Given the description of an element on the screen output the (x, y) to click on. 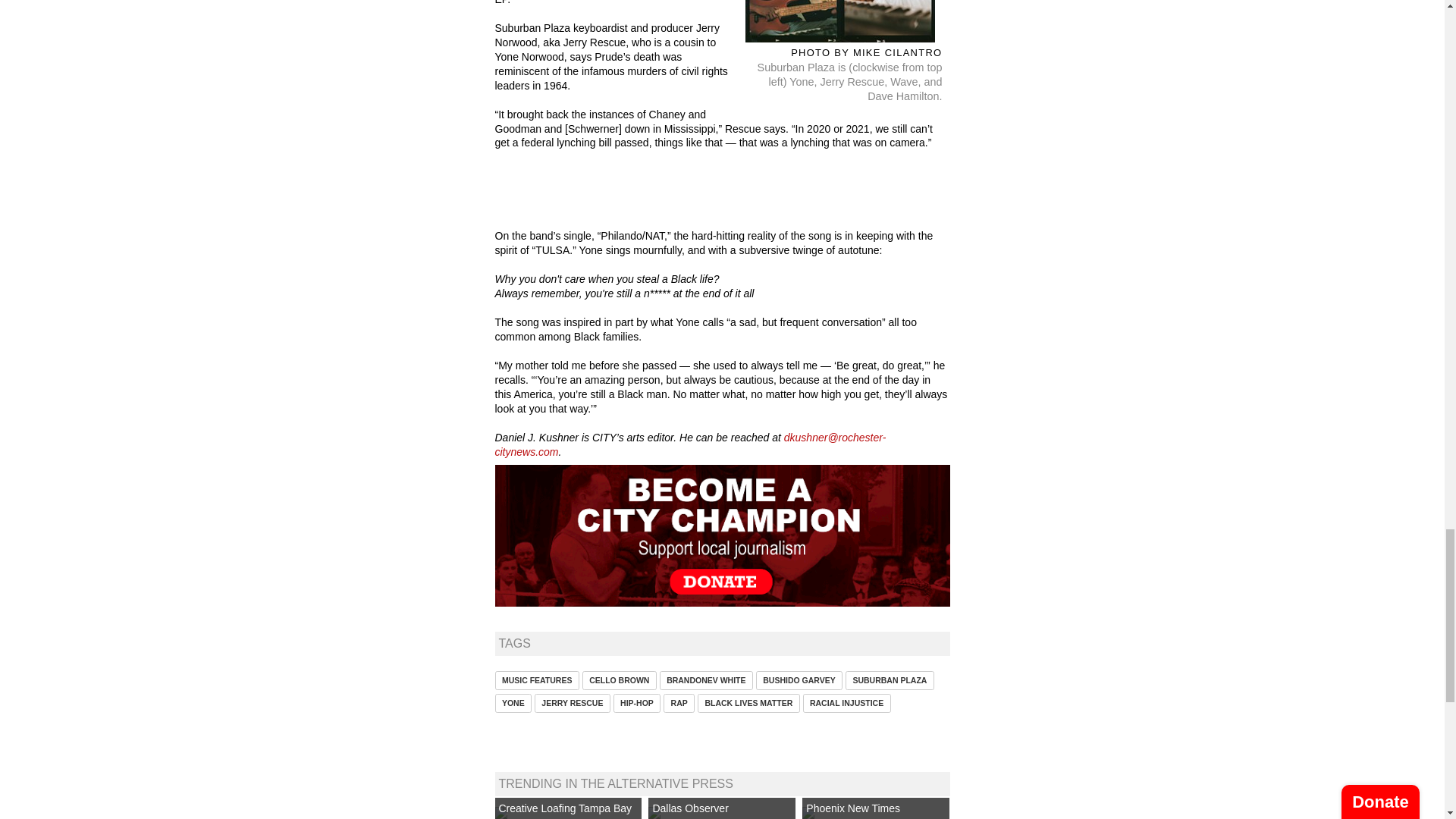
TRENDING IN THE ALTERNATIVE PRESS (616, 783)
JERRY RESCUE (572, 702)
BLACK LIVES MATTER (748, 702)
SUBURBAN PLAZA (889, 680)
YONE (513, 702)
RACIAL INJUSTICE (847, 702)
BUSHIDO GARVEY (799, 680)
MUSIC FEATURES (536, 680)
BRANDONEV WHITE (705, 680)
HIP-HOP (636, 702)
RAP (678, 702)
CELLO BROWN (619, 680)
